Given the description of an element on the screen output the (x, y) to click on. 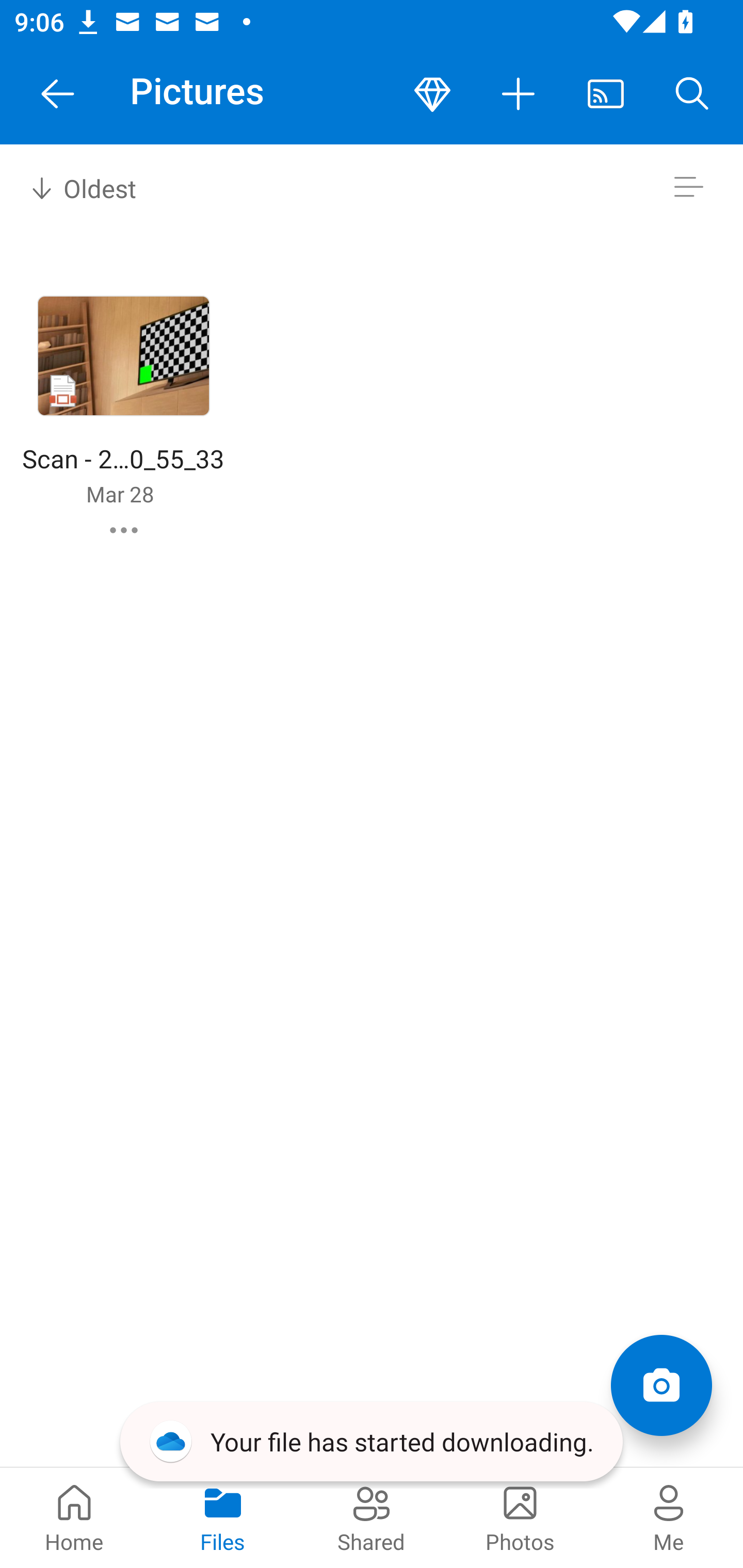
Navigate Up (57, 93)
Cast. Disconnected (605, 93)
Premium button (432, 93)
More actions button (518, 93)
Search button (692, 93)
Oldest Sort by combo box, sort by oldest (80, 187)
Switch to list view (688, 187)
Mar 28 (120, 493)
Scan - 2024-03-28 10_55_33 commands (123, 529)
Add items Scan (660, 1385)
Home pivot Home (74, 1517)
Shared pivot Shared (371, 1517)
Photos pivot Photos (519, 1517)
Me pivot Me (668, 1517)
